Given the description of an element on the screen output the (x, y) to click on. 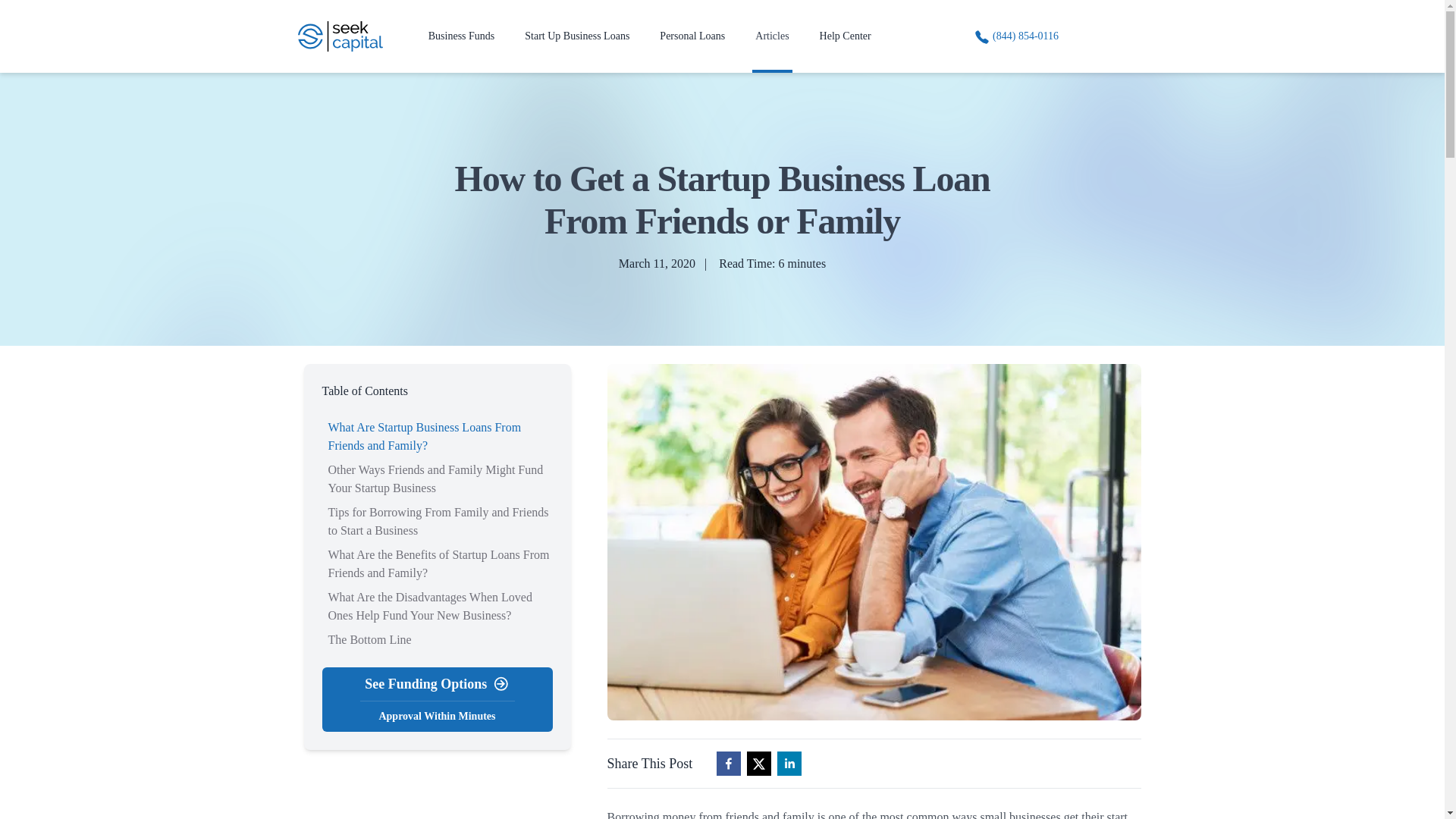
Personal Loans (436, 699)
Start Up Business Loans (692, 36)
What Are Startup Business Loans From Friends and Family? (576, 36)
The Bottom Line (424, 436)
Business Funds (368, 639)
